Given the description of an element on the screen output the (x, y) to click on. 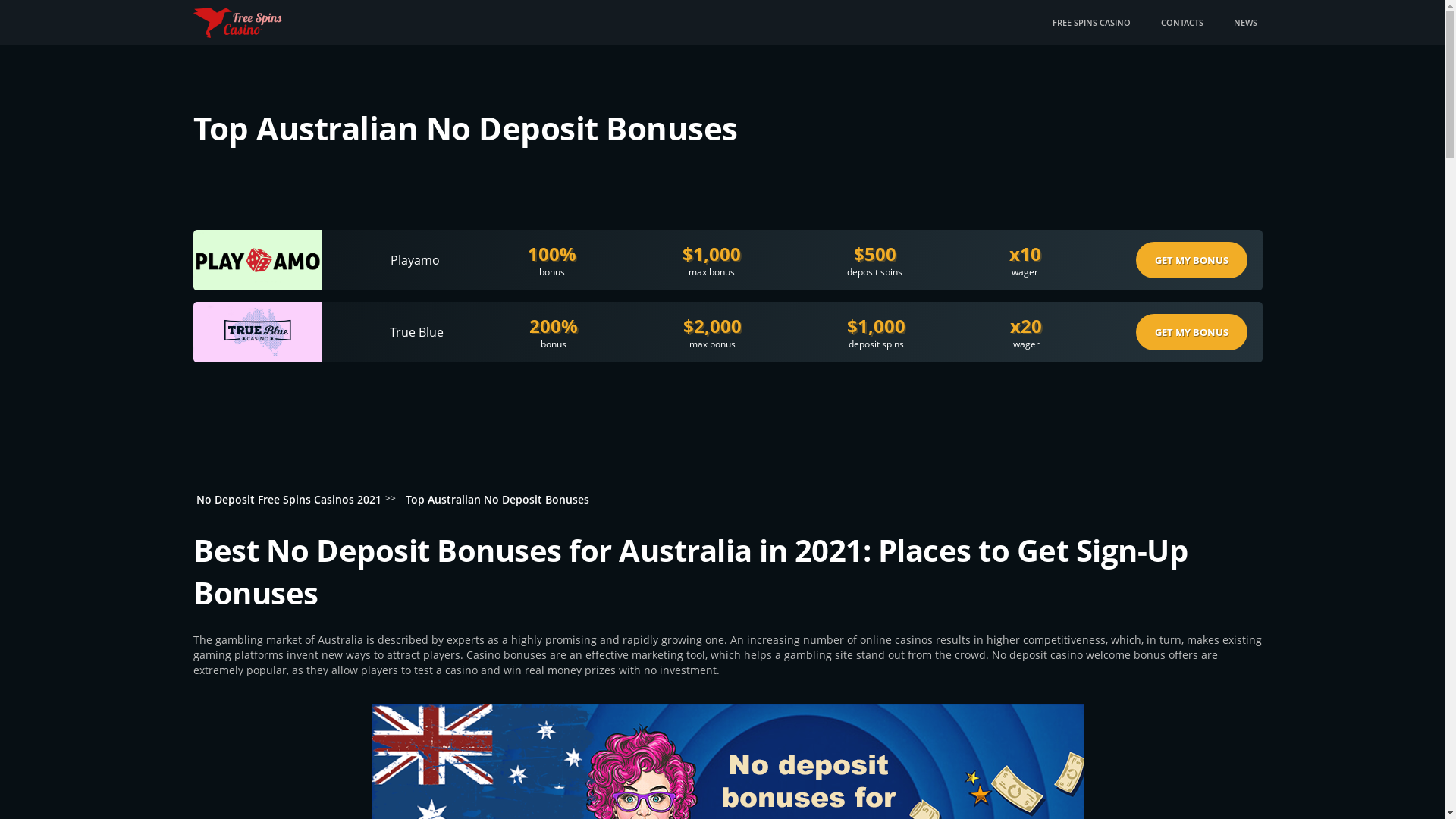
NEWS Element type: text (1244, 22)
GET MY BONUS Element type: text (1191, 331)
CONTACTS Element type: text (1181, 22)
Top Australian No Deposit Bonuses Element type: text (497, 499)
No Deposit Free Spins Casinos 2021 Element type: text (288, 499)
GET MY BONUS Element type: text (1191, 259)
FREE SPINS CASINO Element type: text (1091, 22)
